Given the description of an element on the screen output the (x, y) to click on. 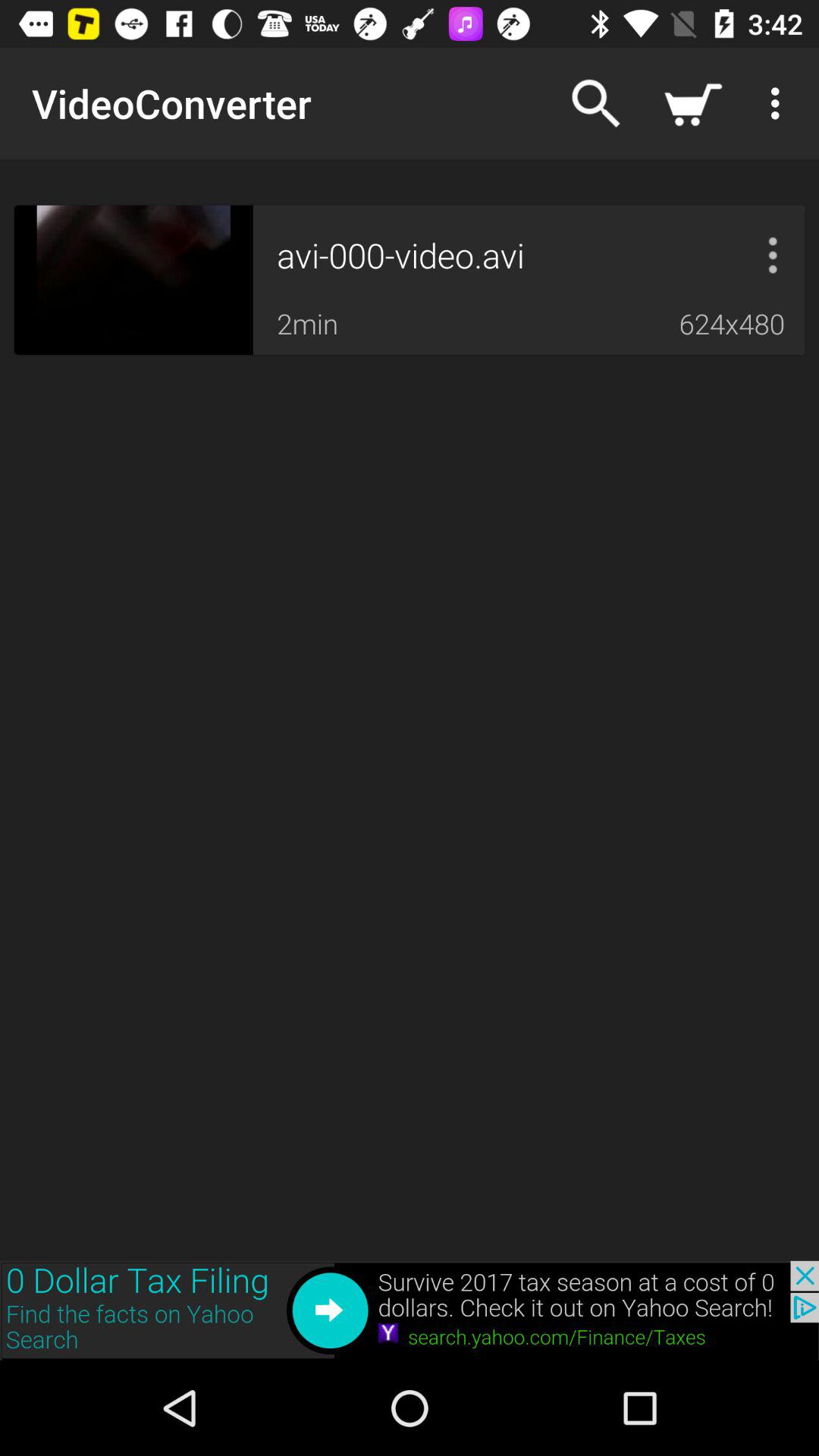
search about add (409, 1310)
